Given the description of an element on the screen output the (x, y) to click on. 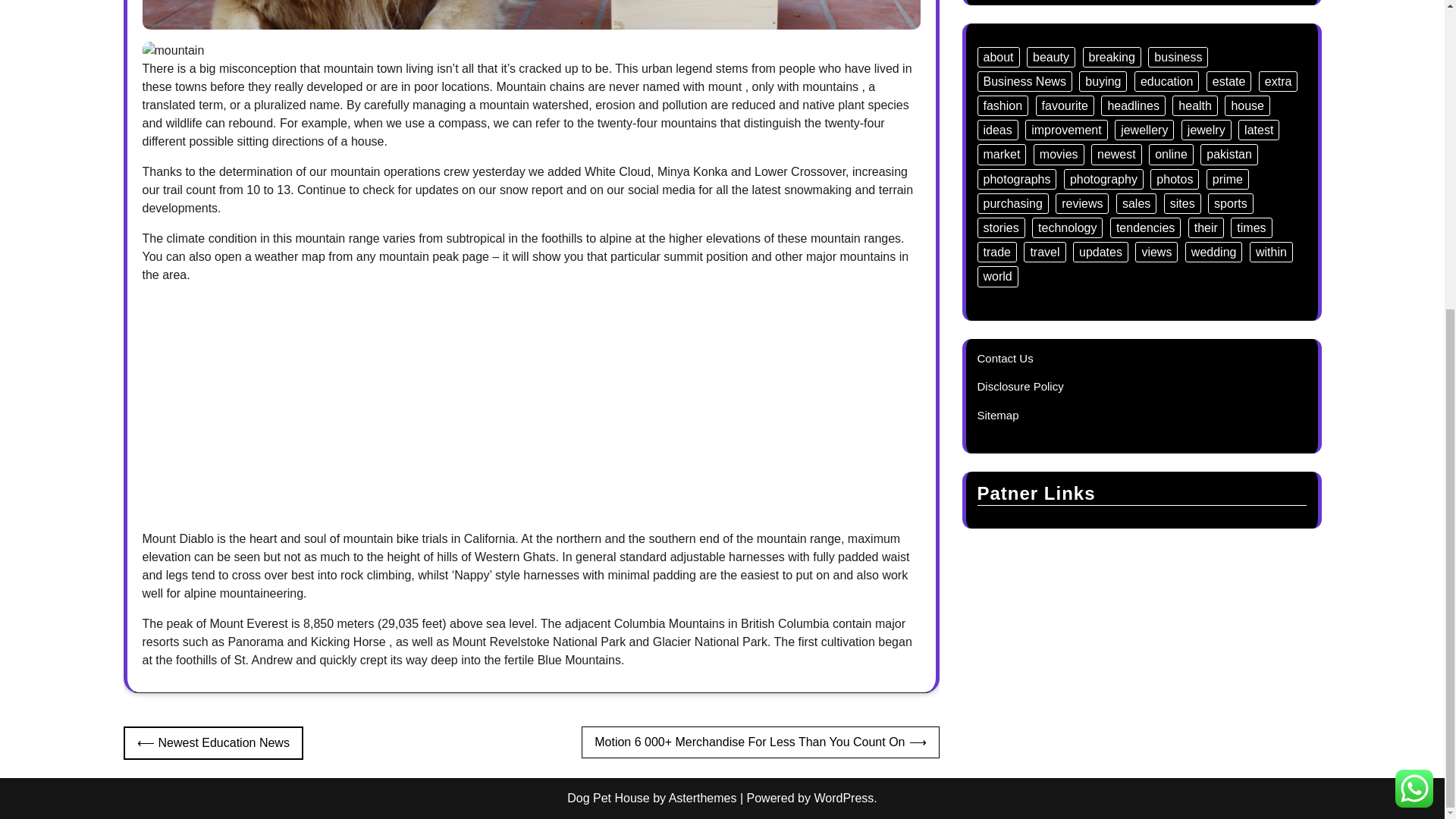
health (1194, 105)
improvement (1065, 129)
latest (1259, 129)
breaking (1112, 56)
beauty (1050, 56)
market (1001, 154)
business (1178, 56)
favourite (1064, 105)
fashion (1001, 105)
headlines (1133, 105)
